Given the description of an element on the screen output the (x, y) to click on. 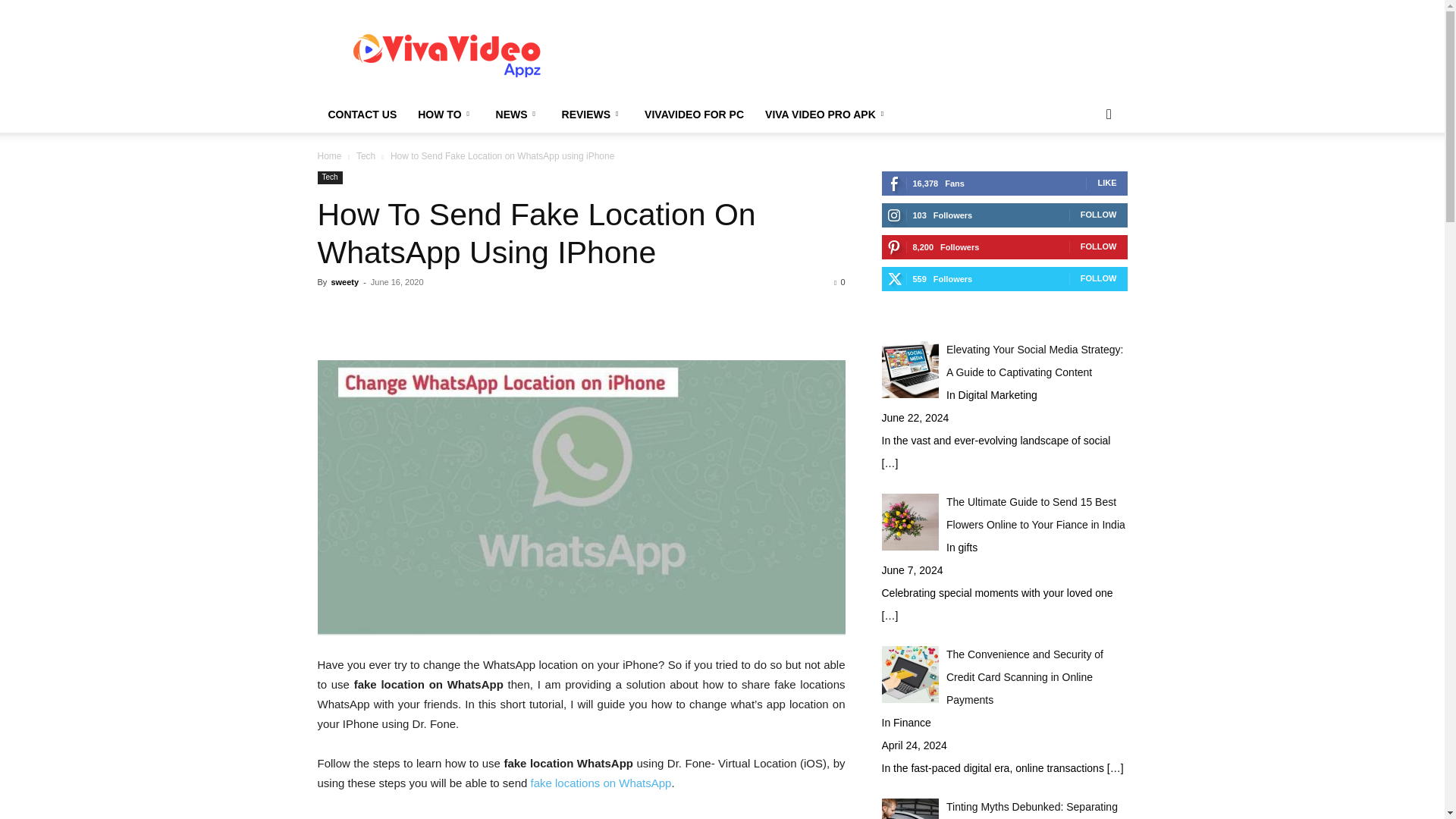
VIVA VIDEO PRO APK (826, 114)
View all posts in Tech (365, 155)
NEWS (517, 114)
CONTACT US (362, 114)
HOW TO (445, 114)
REVIEWS (592, 114)
VIVAVIDEO FOR PC (693, 114)
